Given the description of an element on the screen output the (x, y) to click on. 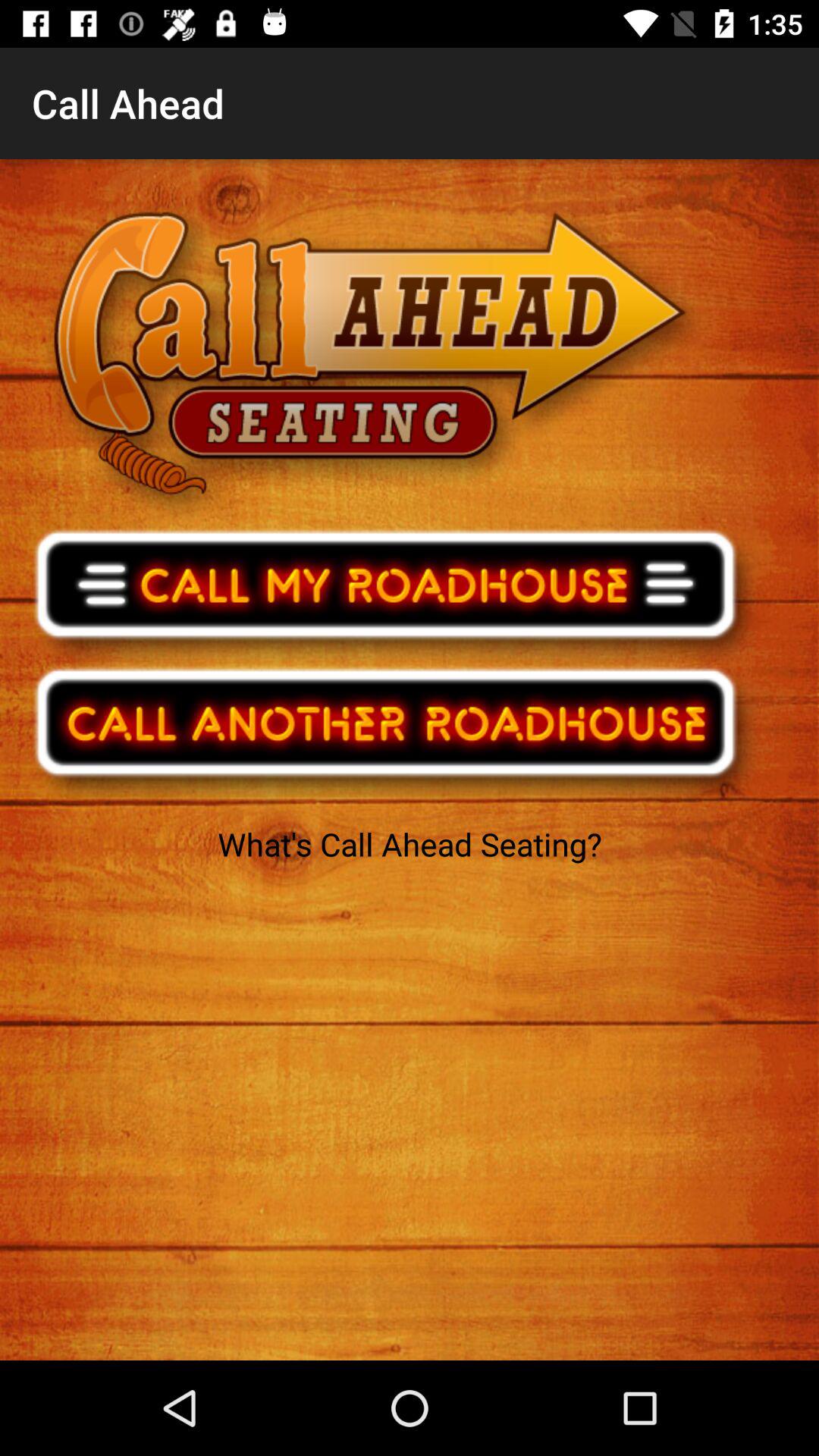
initiate phone call option (395, 593)
